Given the description of an element on the screen output the (x, y) to click on. 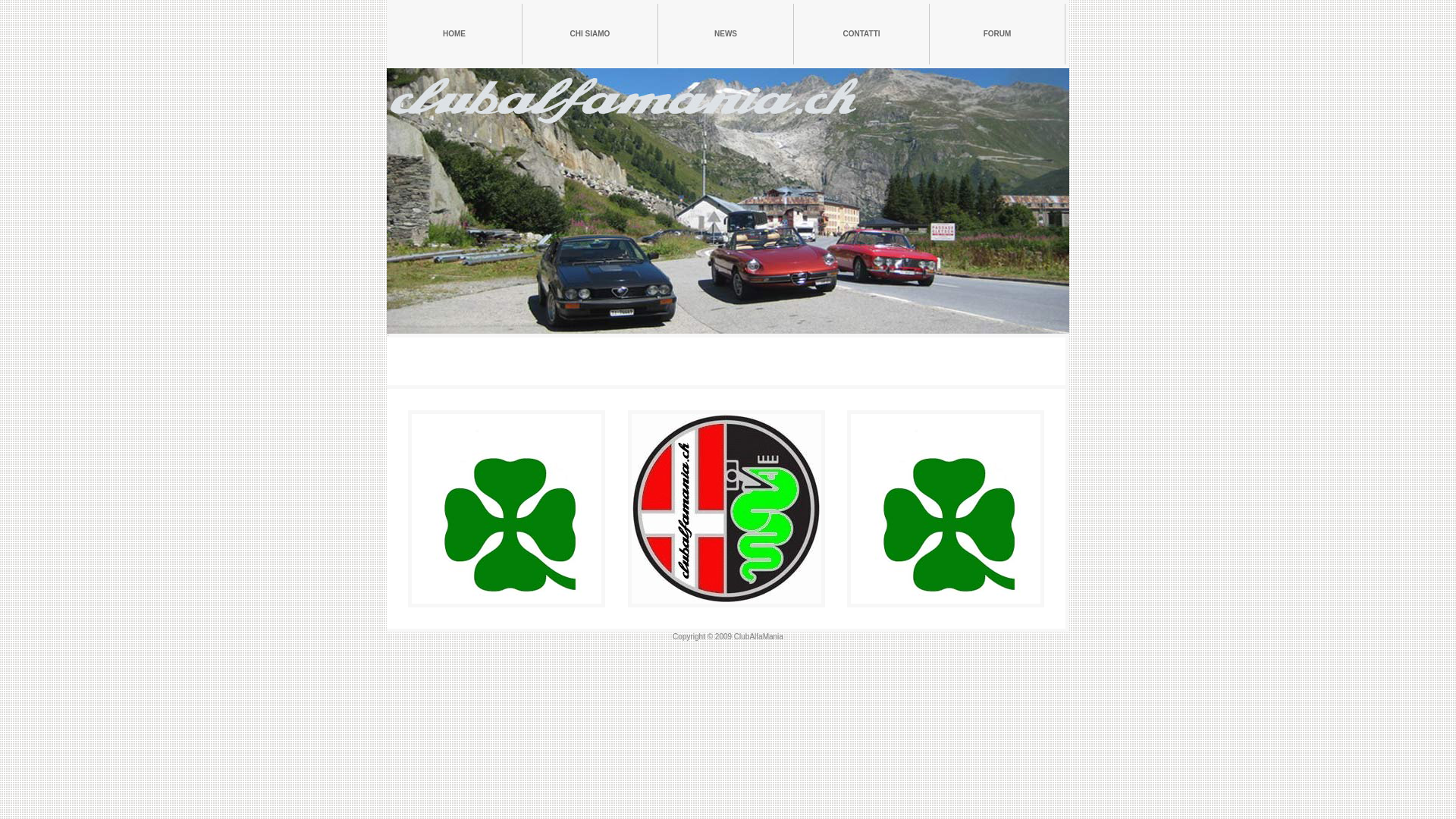
CONTATTI Element type: text (861, 33)
HOME Element type: text (454, 33)
FORUM Element type: text (997, 33)
NEWS Element type: text (725, 33)
CHI SIAMO Element type: text (590, 33)
